Given the description of an element on the screen output the (x, y) to click on. 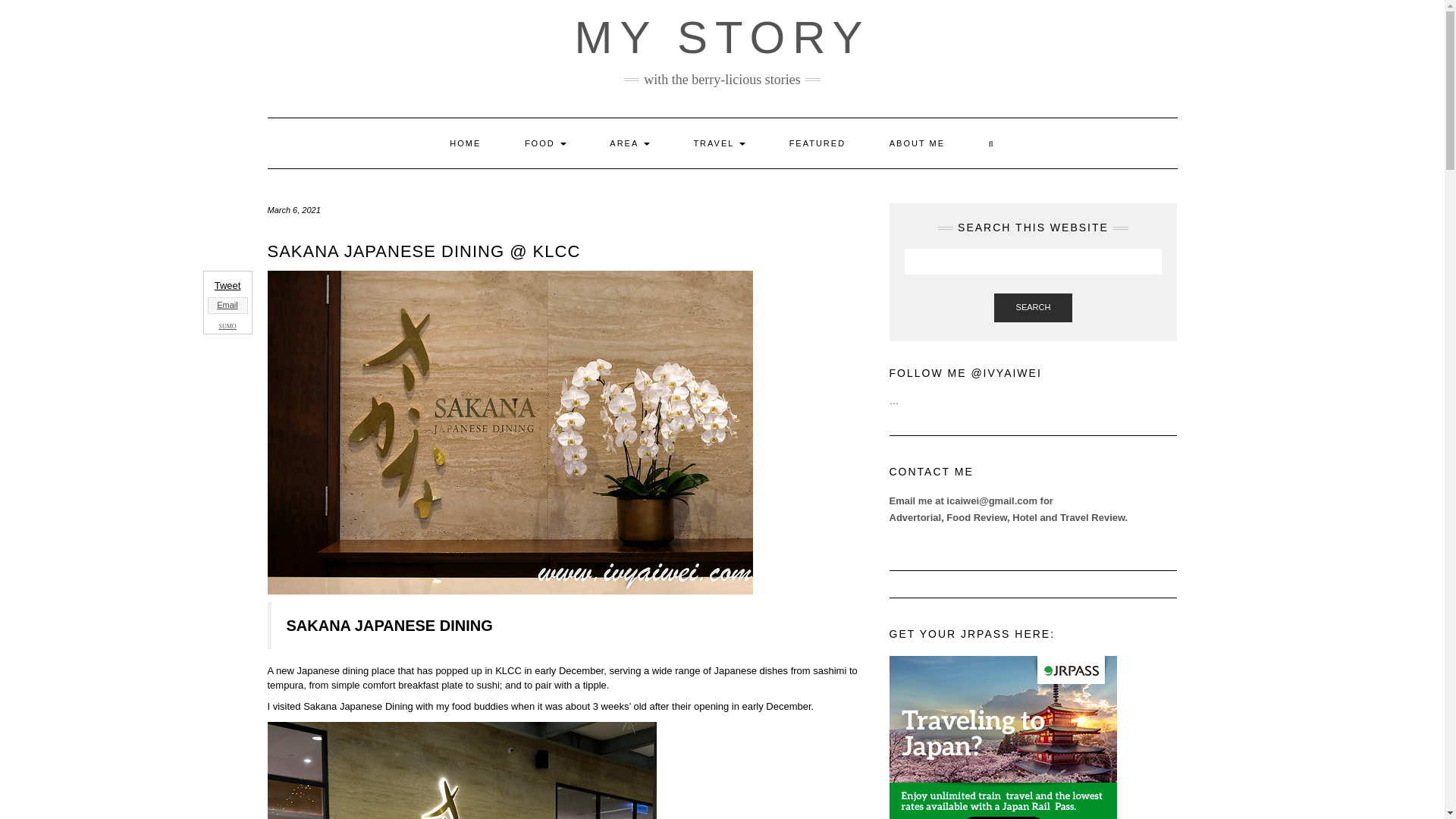
AREA (629, 142)
MY STORY (721, 37)
HOME (464, 142)
FOOD (544, 142)
